Given the description of an element on the screen output the (x, y) to click on. 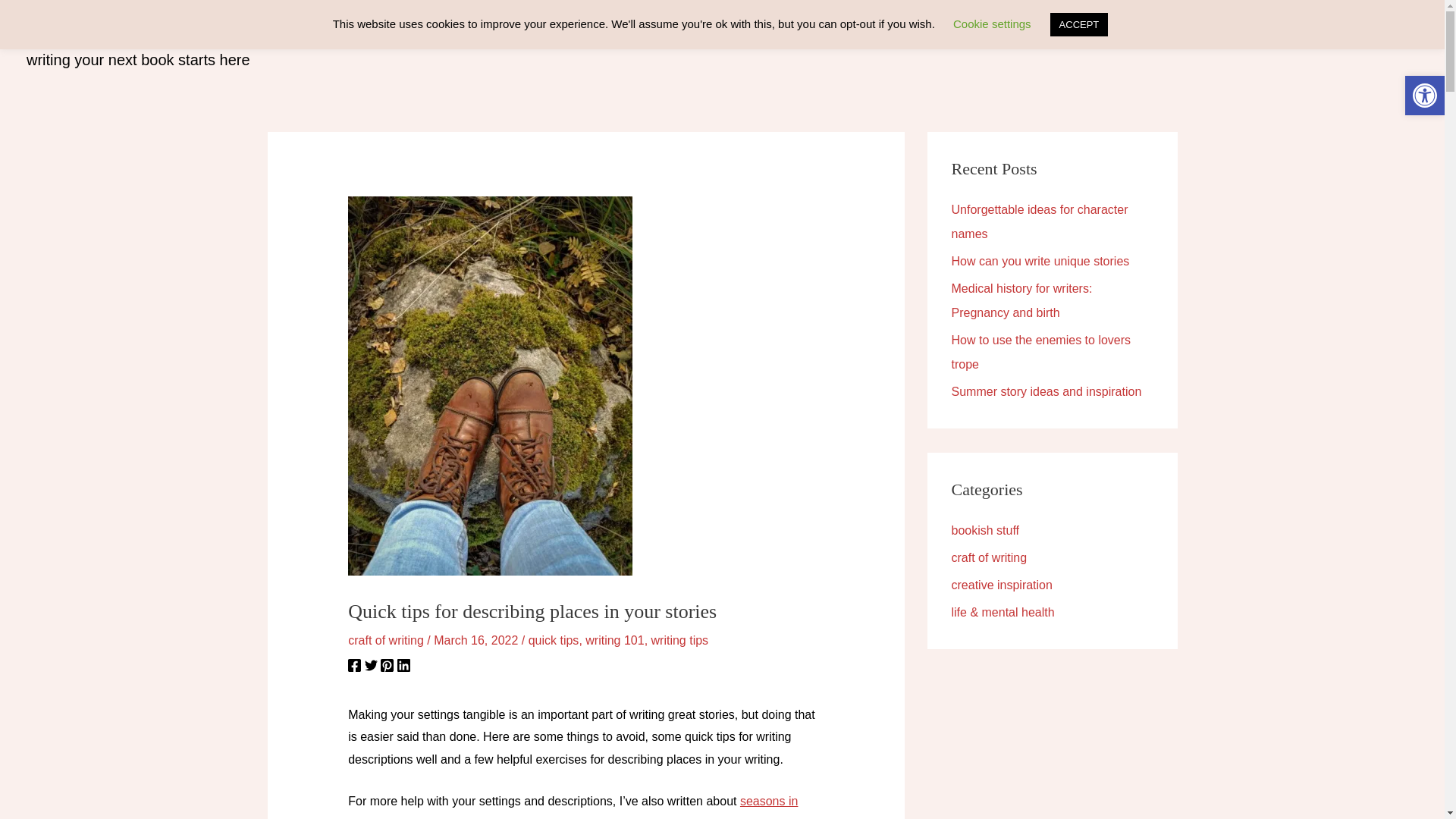
Accessibility Tools (1424, 95)
Contact (1385, 41)
Blog (1032, 41)
Writing Your First Novel (1219, 41)
quick tips (553, 640)
seasons in your story setting (572, 806)
writing tips (679, 640)
craft of writing (385, 640)
Free course (1100, 41)
About (1323, 41)
Home (978, 41)
Protagonist Crafts (136, 29)
writing 101 (614, 640)
